Given the description of an element on the screen output the (x, y) to click on. 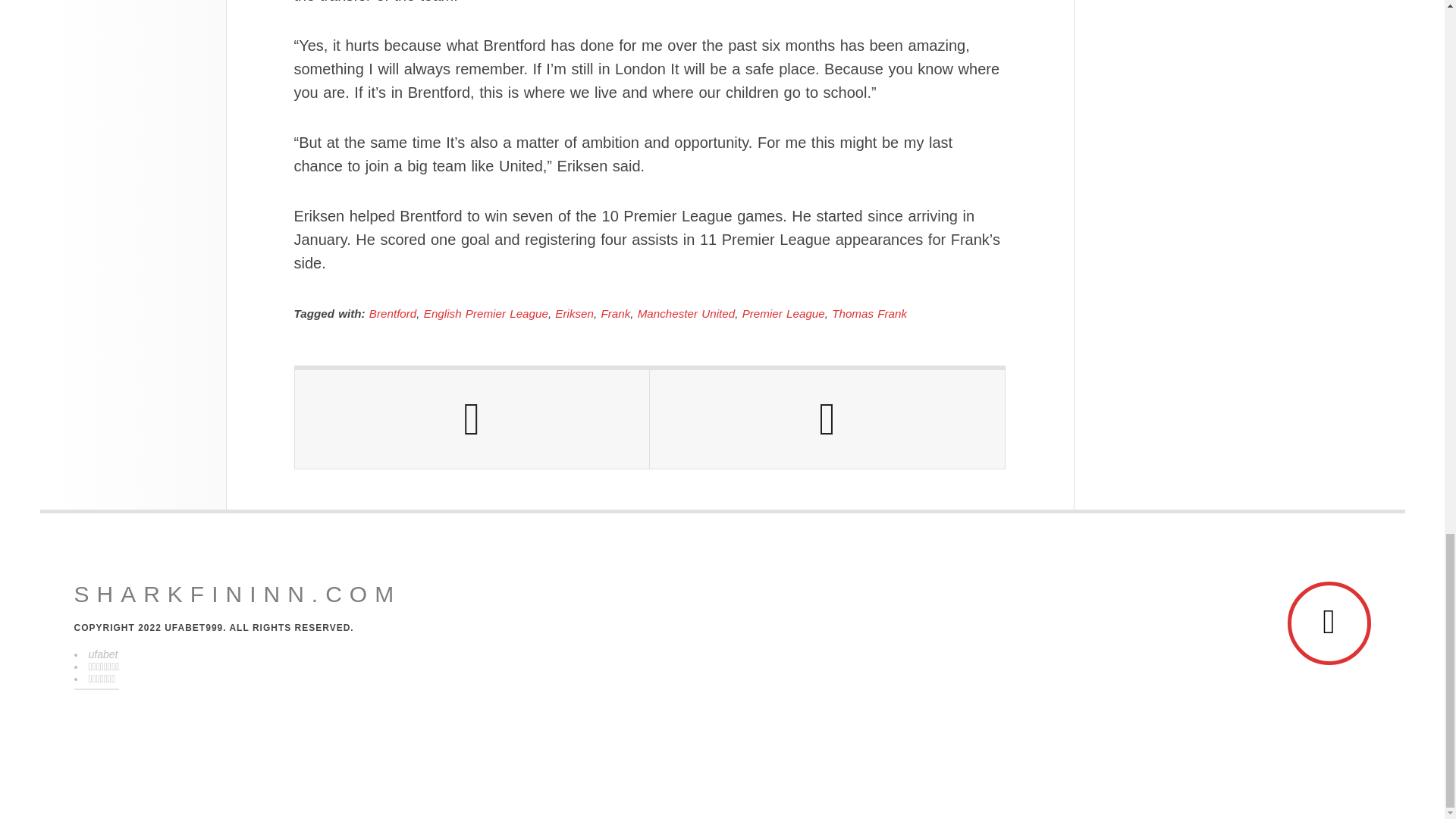
Frank (614, 313)
English Premier League (485, 313)
sharkfininn.com (237, 594)
Eriksen (574, 313)
Next Post (826, 419)
Previous Post (471, 419)
Premier League (783, 313)
Brentford (392, 313)
Manchester United (686, 313)
Thomas Frank (869, 313)
